Given the description of an element on the screen output the (x, y) to click on. 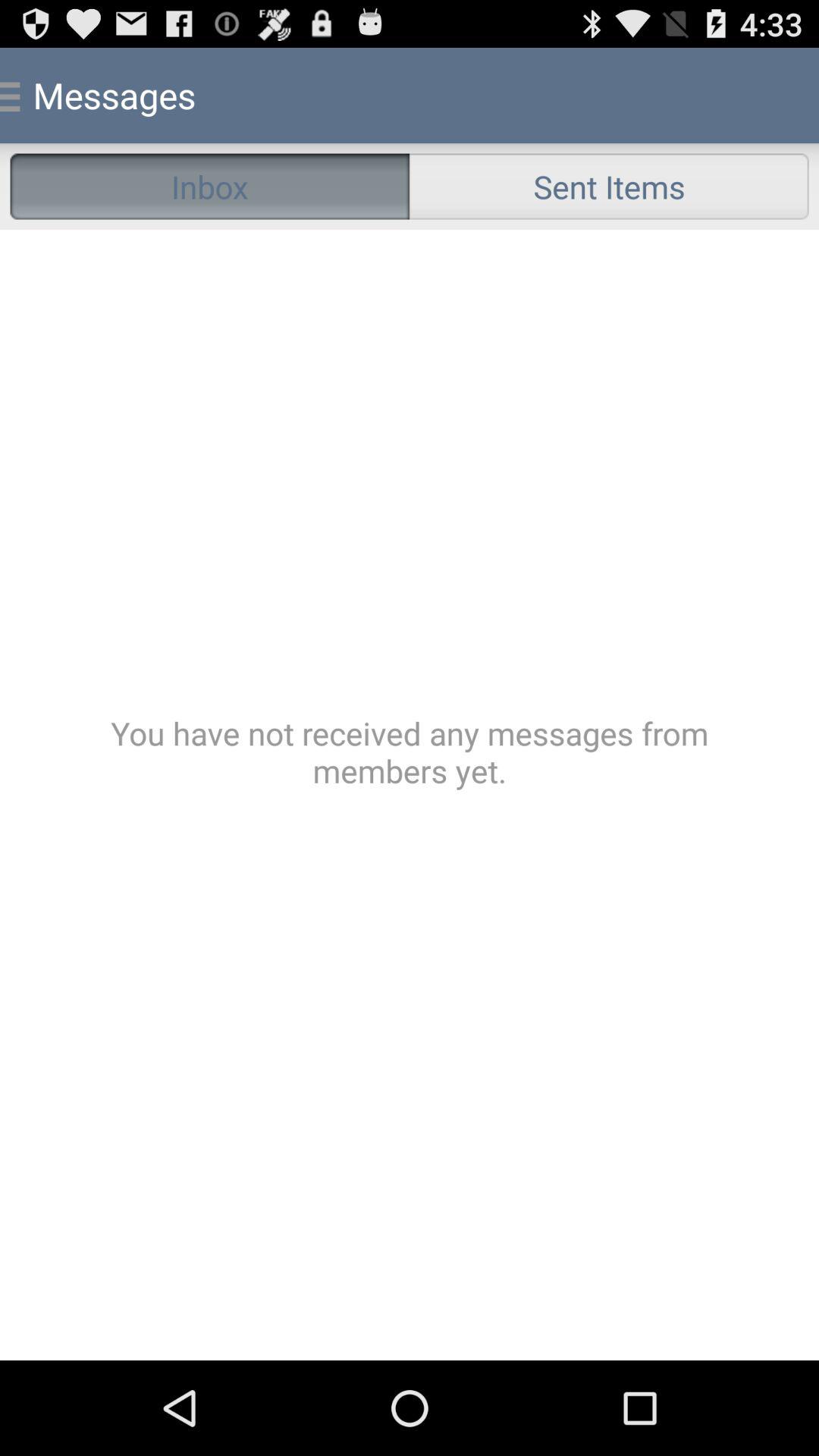
choose icon next to inbox radio button (608, 186)
